Given the description of an element on the screen output the (x, y) to click on. 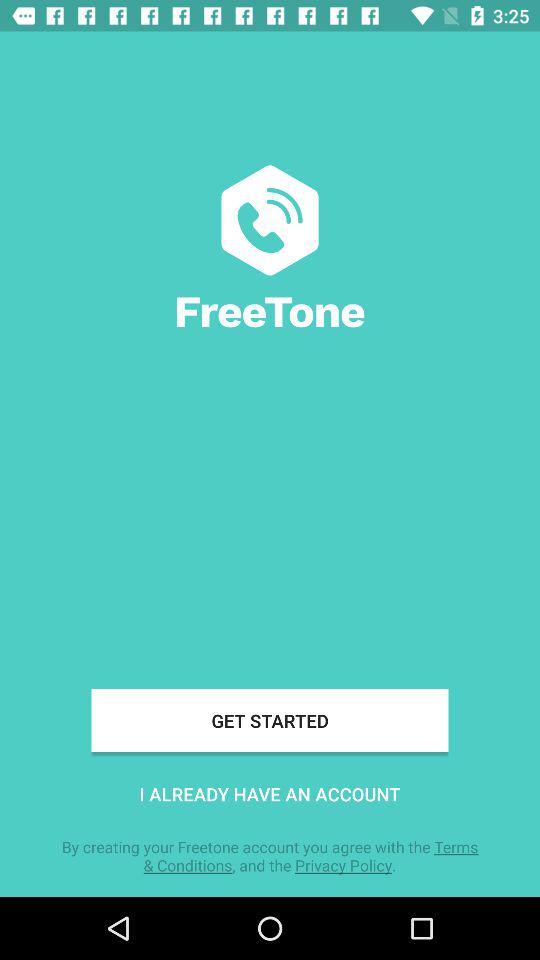
launch item below the get started icon (269, 793)
